Given the description of an element on the screen output the (x, y) to click on. 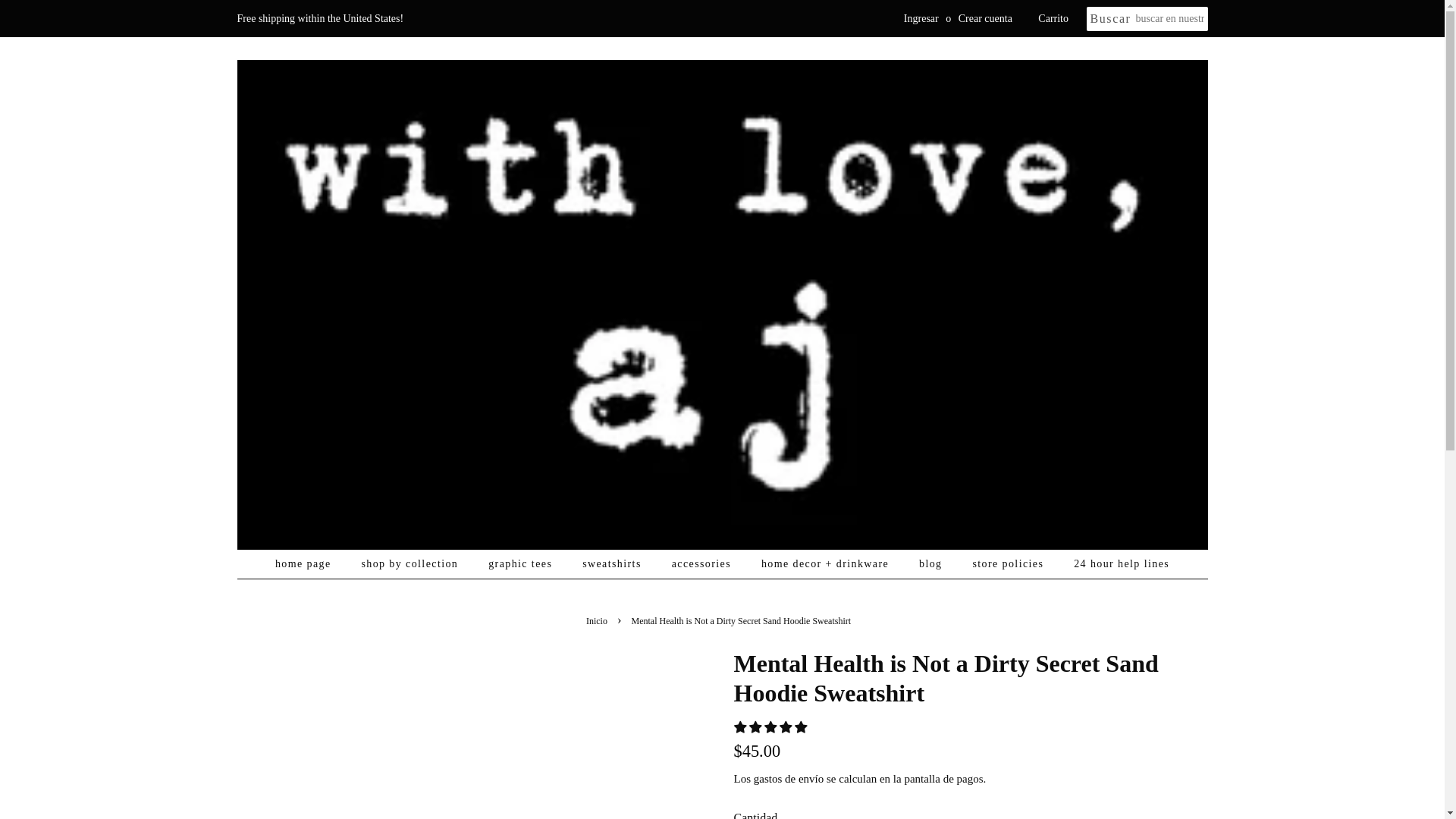
Crear cuenta (984, 18)
Volver a la portada (598, 620)
shop by collection (411, 563)
Buscar (1110, 18)
home page (310, 563)
Carrito (1053, 18)
Ingresar (921, 18)
